Given the description of an element on the screen output the (x, y) to click on. 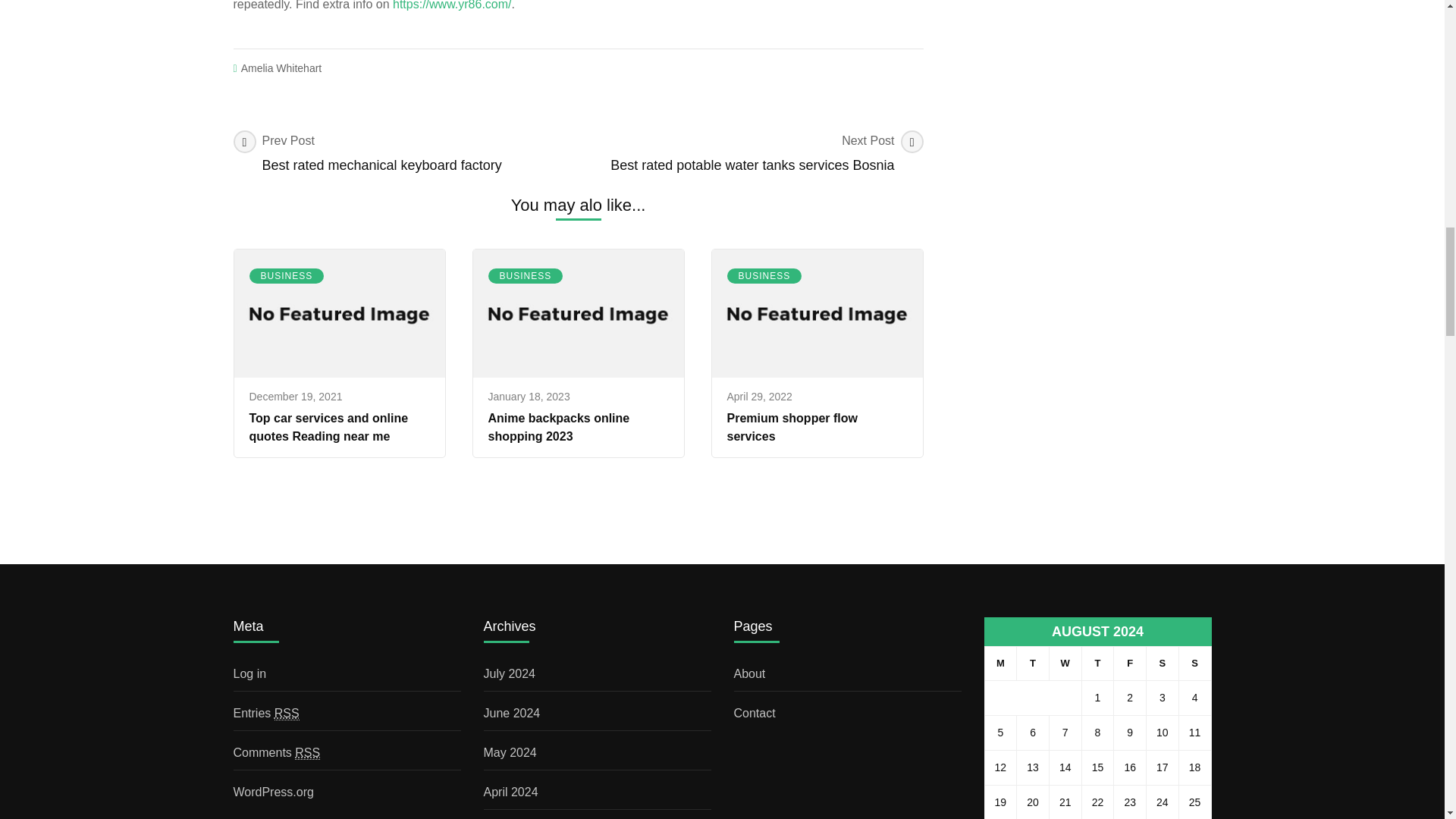
Thursday (750, 153)
Really Simple Syndication (1097, 663)
Top car services and online quotes Reading near me (307, 753)
BUSINESS (327, 427)
Monday (285, 275)
Premium shopper flow services (1000, 663)
Amelia Whitehart (791, 427)
Sunday (281, 68)
April 29, 2022 (1194, 663)
